Given the description of an element on the screen output the (x, y) to click on. 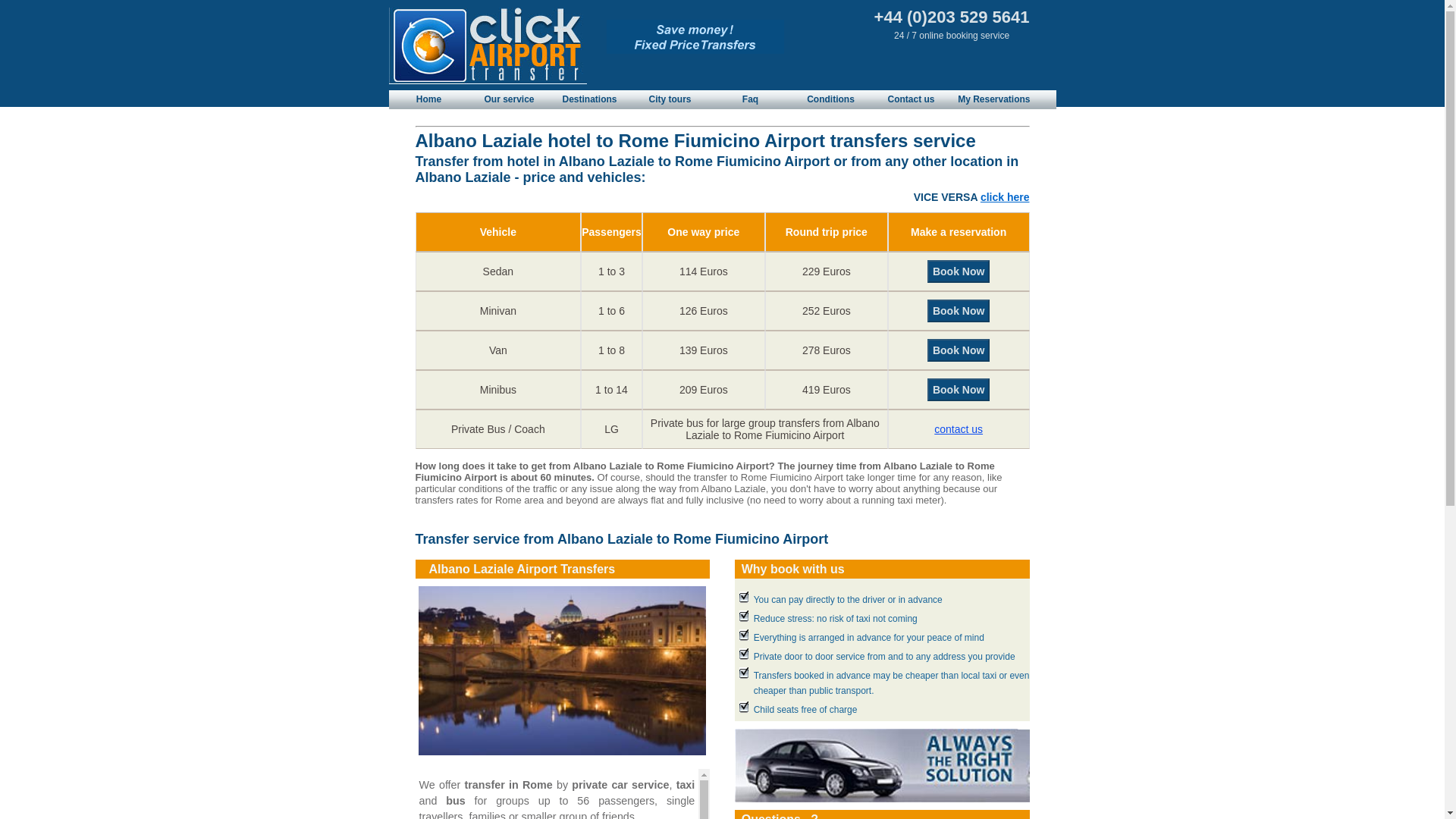
My Reservations (993, 99)
Book Now (958, 350)
Conditions (830, 99)
Book Now (958, 271)
Home (428, 99)
Book Now (958, 389)
ClickAirportTransfer (695, 36)
Faq (750, 99)
Book Now (958, 271)
contact us (958, 428)
